Given the description of an element on the screen output the (x, y) to click on. 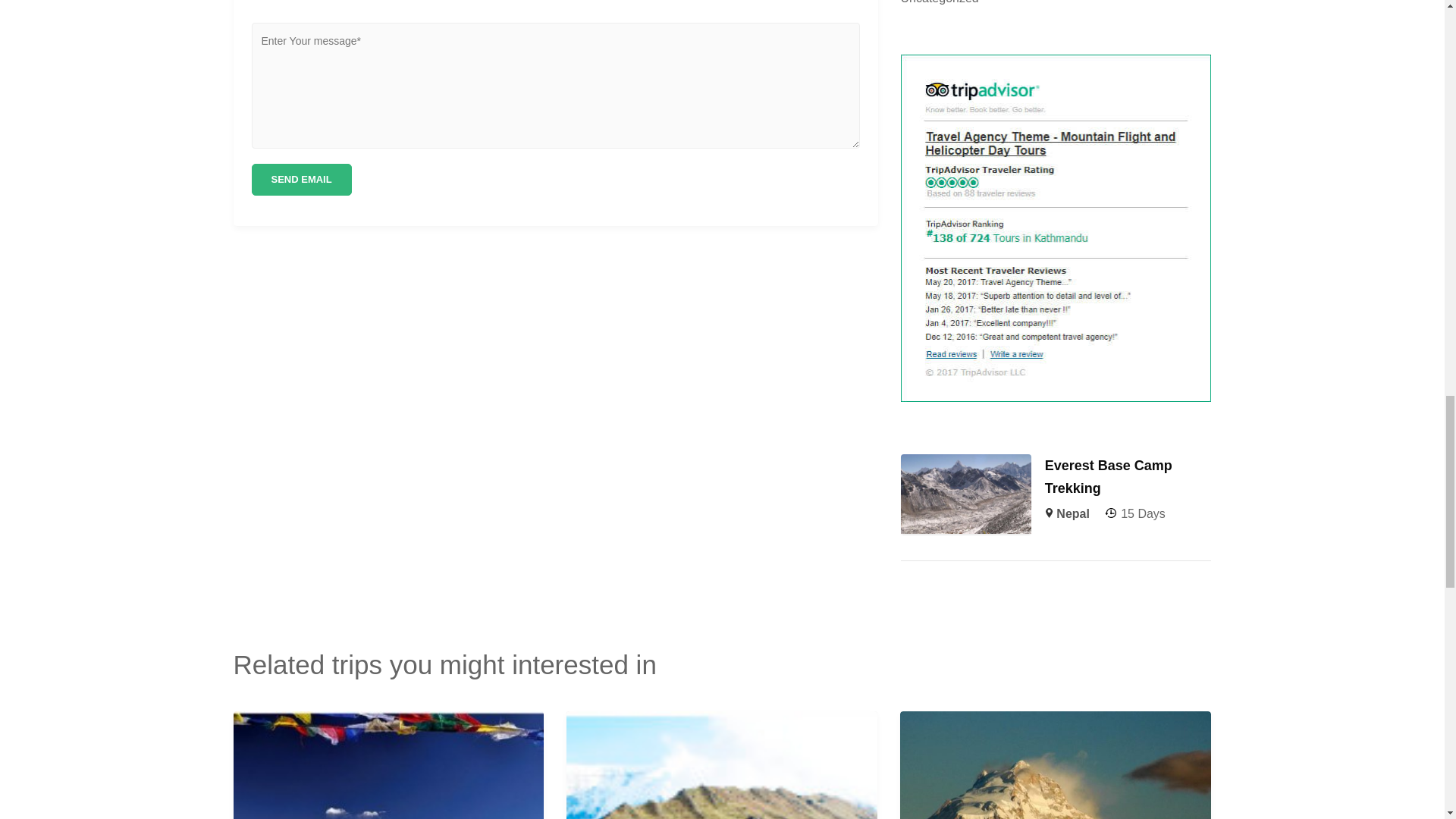
Send Email (301, 179)
